Given the description of an element on the screen output the (x, y) to click on. 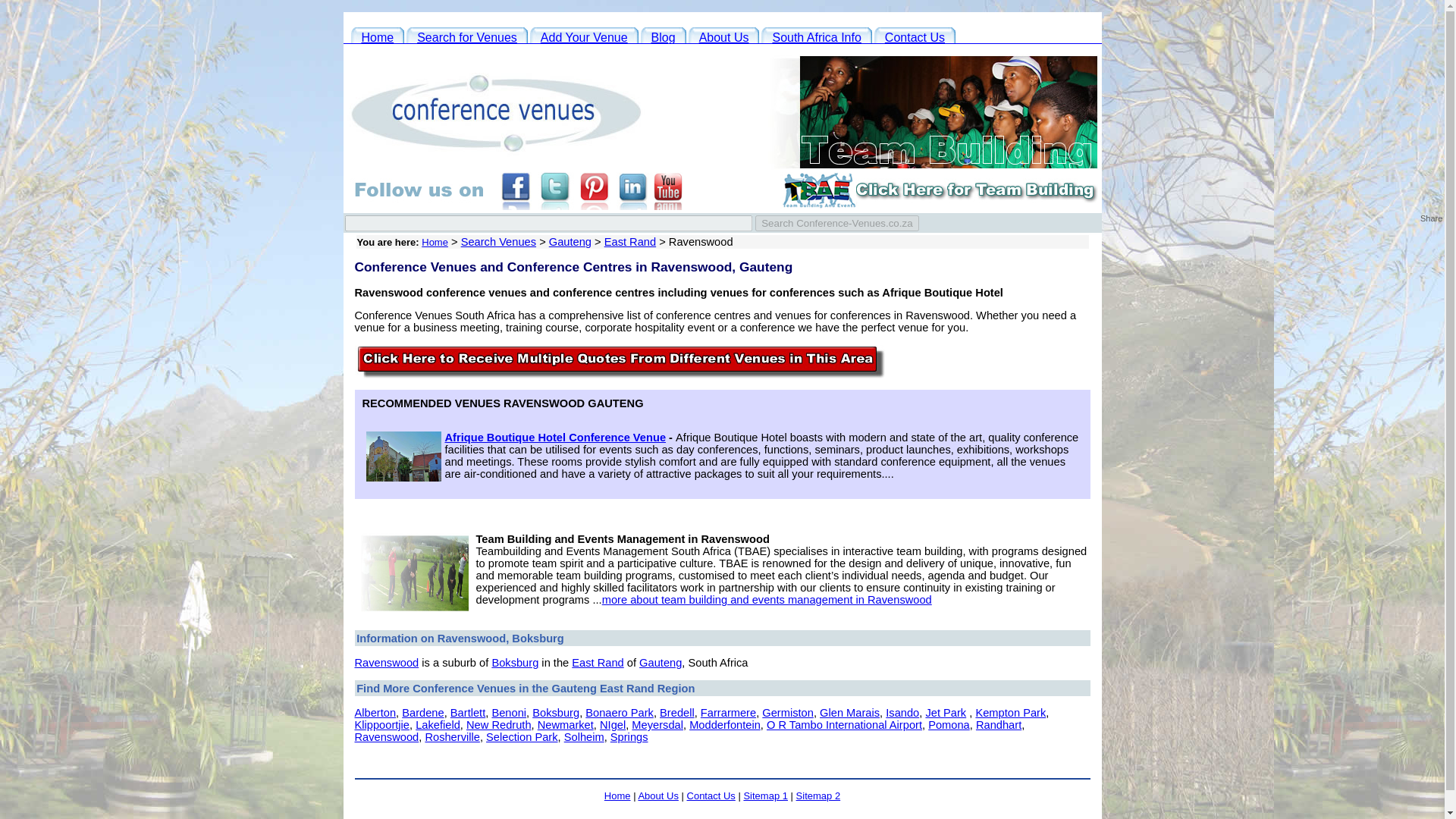
Alberton (375, 712)
Newmarket (565, 725)
Afrique Boutique Hotel Conference Venue (554, 437)
Conference Venues (377, 36)
Add Your Conference Venue (584, 36)
Lakefield (437, 725)
Kempton Park (1010, 712)
Jet Park (945, 712)
Meyersdal (656, 725)
Klippoortjie (382, 725)
Bardene (422, 712)
About Conference Venues SA (724, 36)
Home (435, 242)
South Africa Info (815, 36)
more about team building and events management in Ravenswood (766, 599)
